Given the description of an element on the screen output the (x, y) to click on. 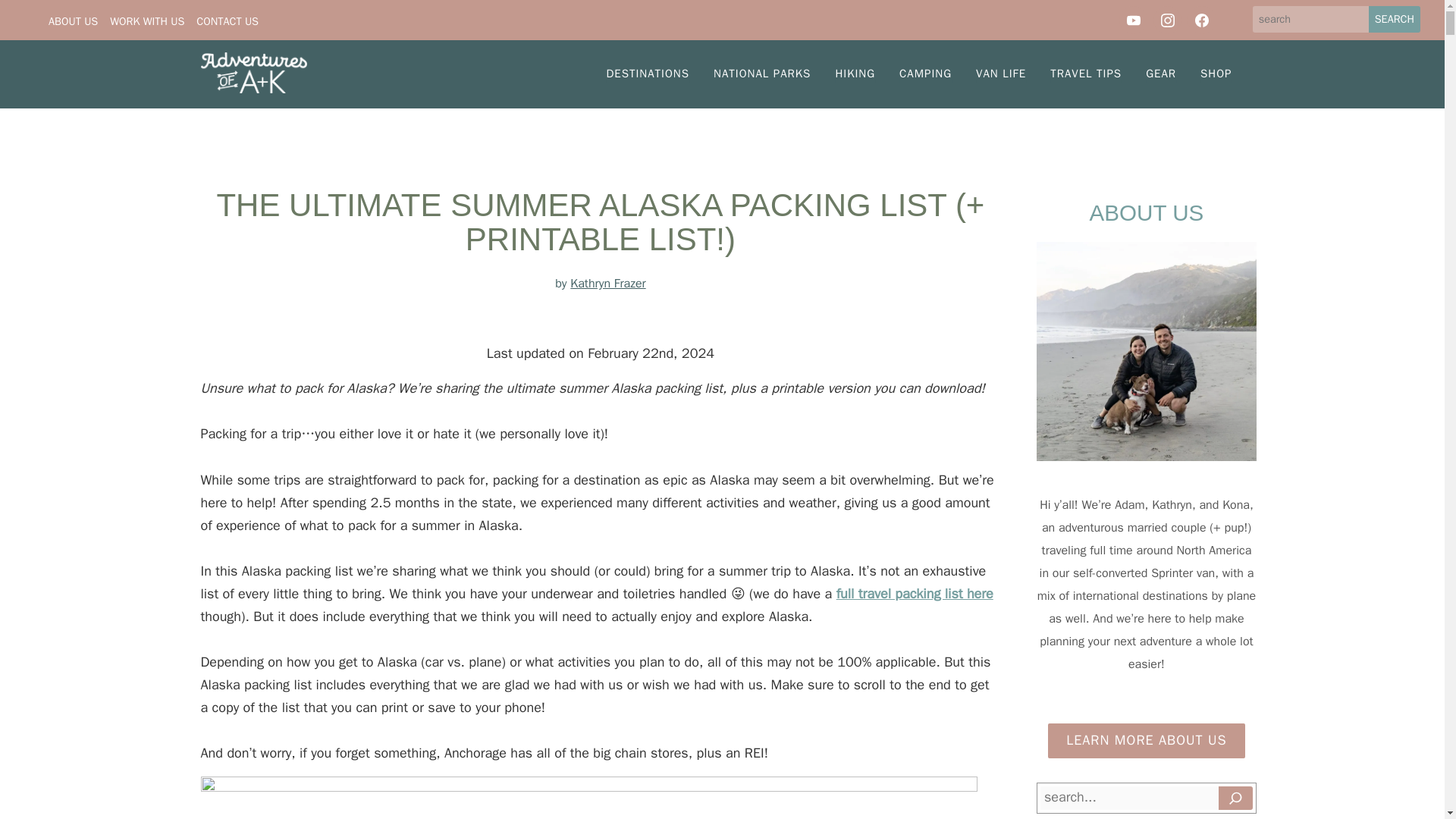
NATIONAL PARKS (761, 73)
TRAVEL TIPS (1086, 73)
VAN LIFE (1000, 73)
CAMPING (924, 73)
SHOP (1215, 73)
DESTINATIONS (647, 73)
Kathryn Frazer (607, 283)
ABOUT US (72, 20)
WORK WITH US (147, 20)
LEARN MORE ABOUT US (1146, 740)
CONTACT US (227, 20)
HIKING (854, 73)
GEAR (1161, 73)
full travel packing list here (913, 593)
SEARCH (1394, 18)
